Given the description of an element on the screen output the (x, y) to click on. 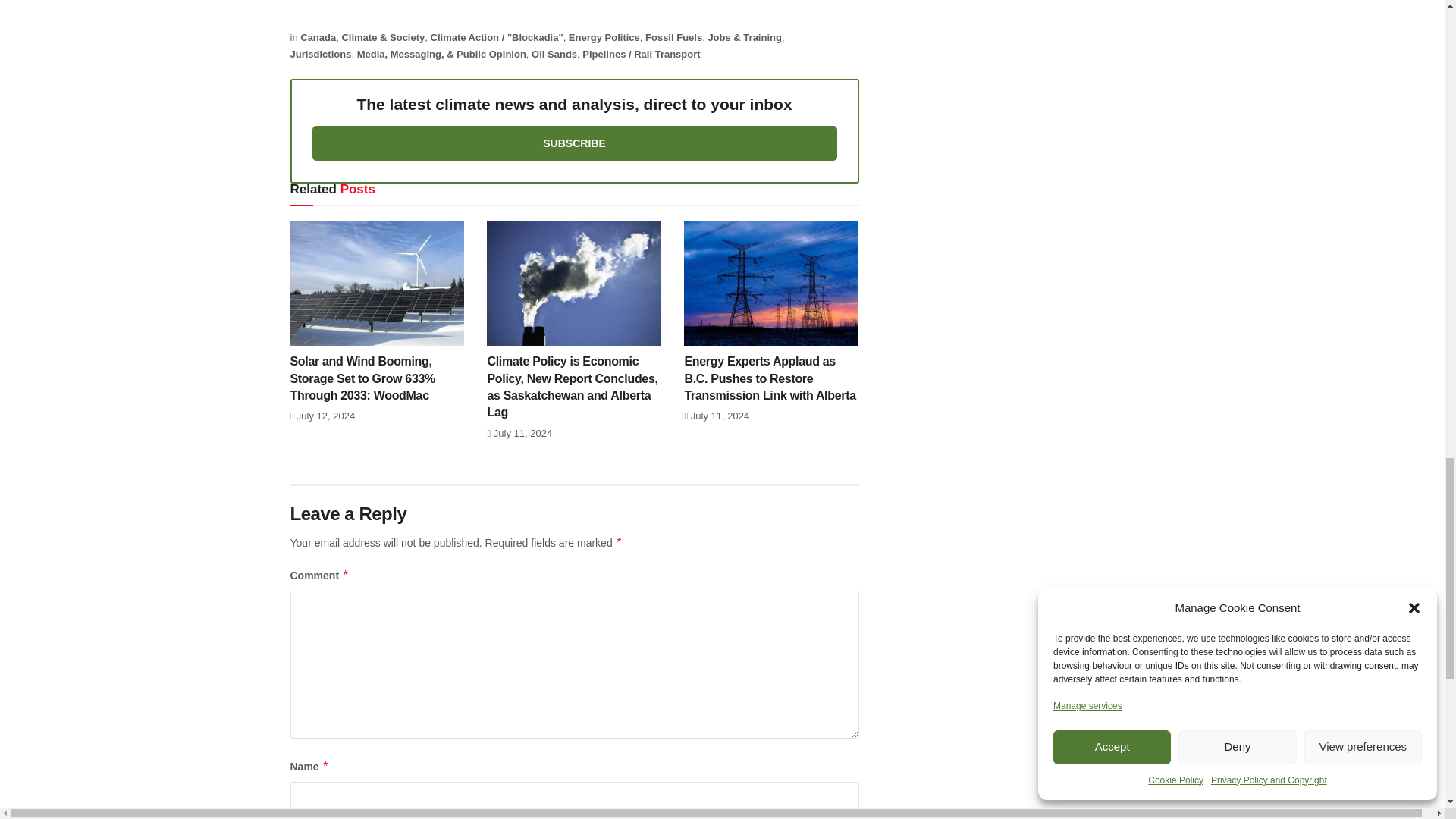
View Subscription Options (575, 143)
